Given the description of an element on the screen output the (x, y) to click on. 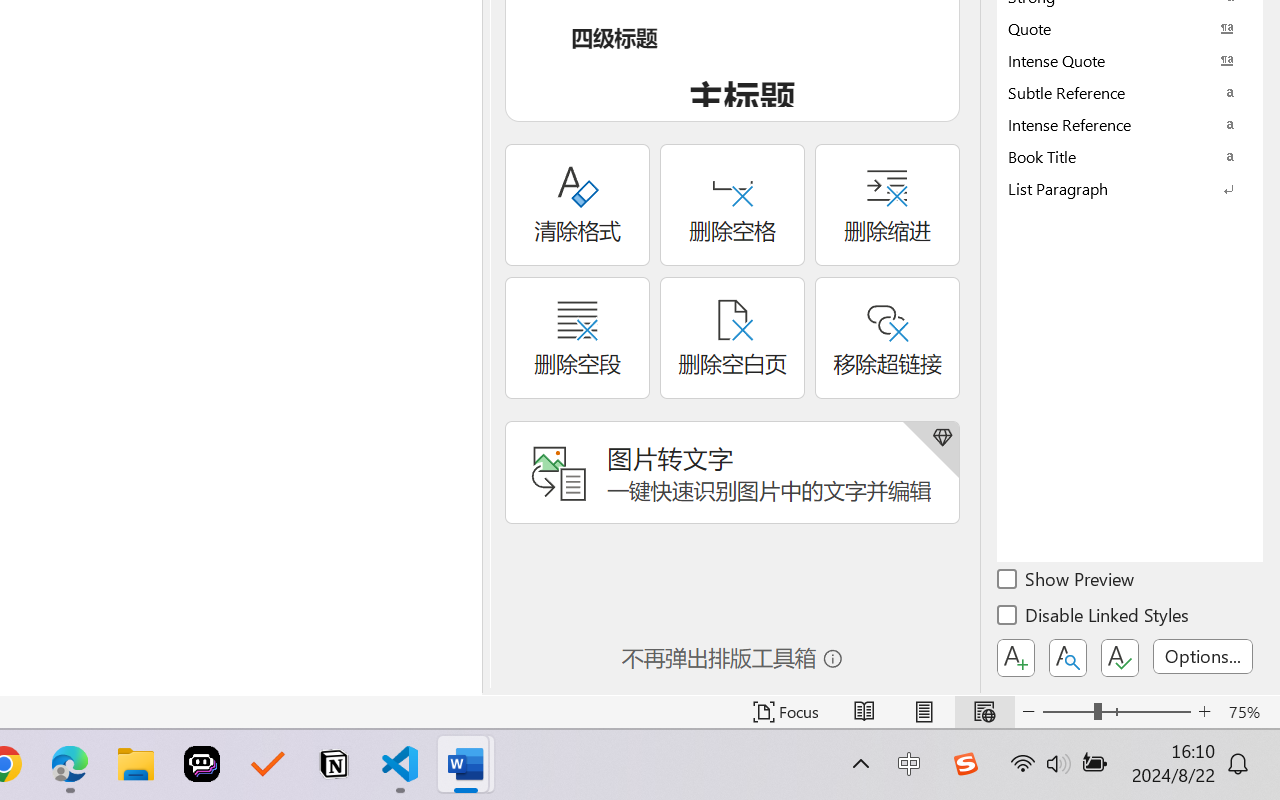
Print Layout (924, 712)
Focus  (786, 712)
Zoom Out (1067, 712)
Disable Linked Styles (1094, 618)
Zoom (1116, 712)
Class: NetUIImage (1116, 188)
Zoom In (1204, 712)
Class: NetUIButton (1119, 657)
Show Preview (1067, 582)
Intense Reference (1130, 124)
